Given the description of an element on the screen output the (x, y) to click on. 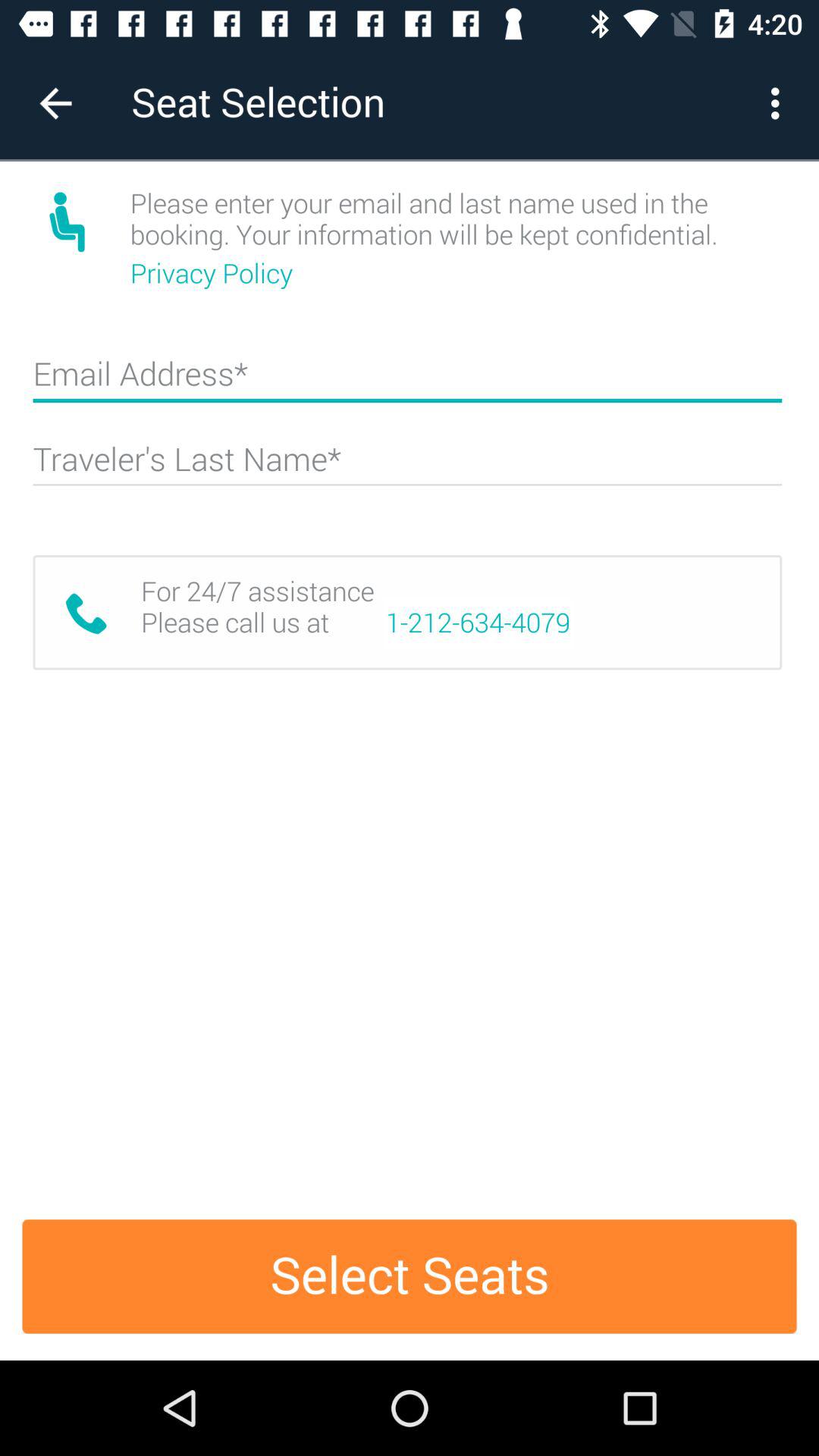
open privacy policy icon (214, 272)
